Given the description of an element on the screen output the (x, y) to click on. 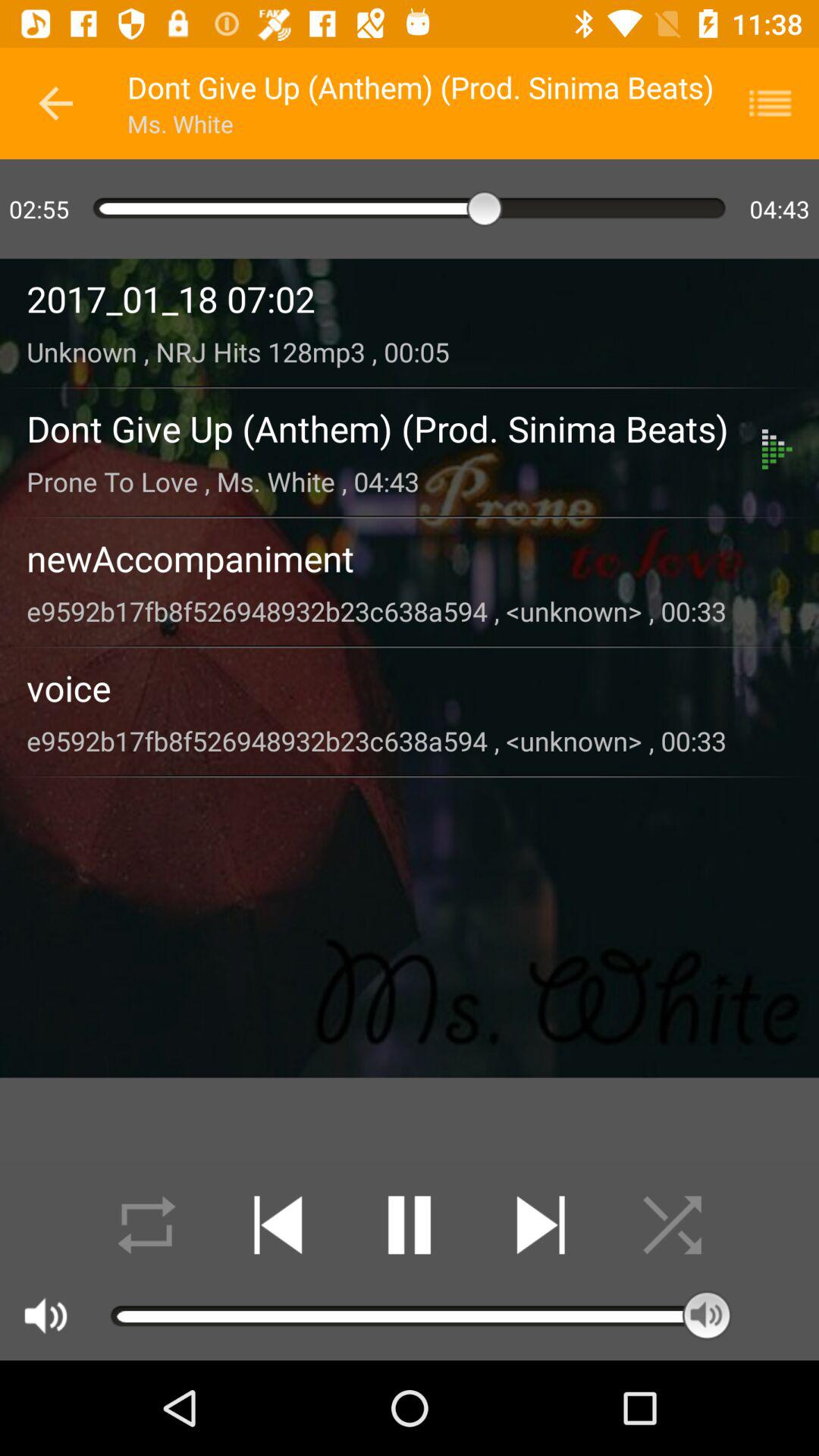
next track (540, 1224)
